Given the description of an element on the screen output the (x, y) to click on. 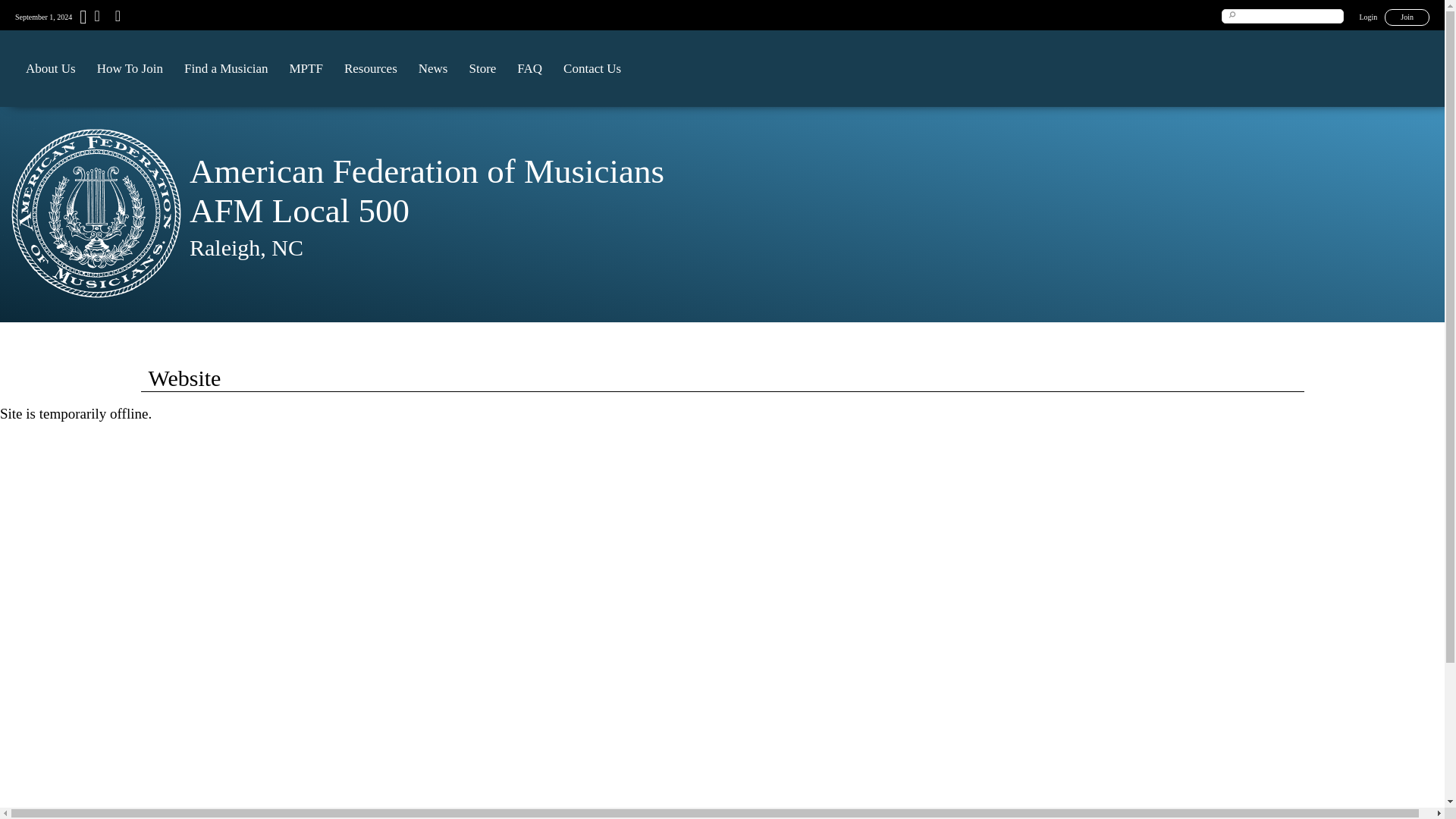
Find a Musician (226, 68)
How To Join (129, 68)
Contact Us (592, 68)
About Us (49, 68)
click to view facebook account (116, 18)
Resources (370, 68)
Join (1406, 17)
